Given the description of an element on the screen output the (x, y) to click on. 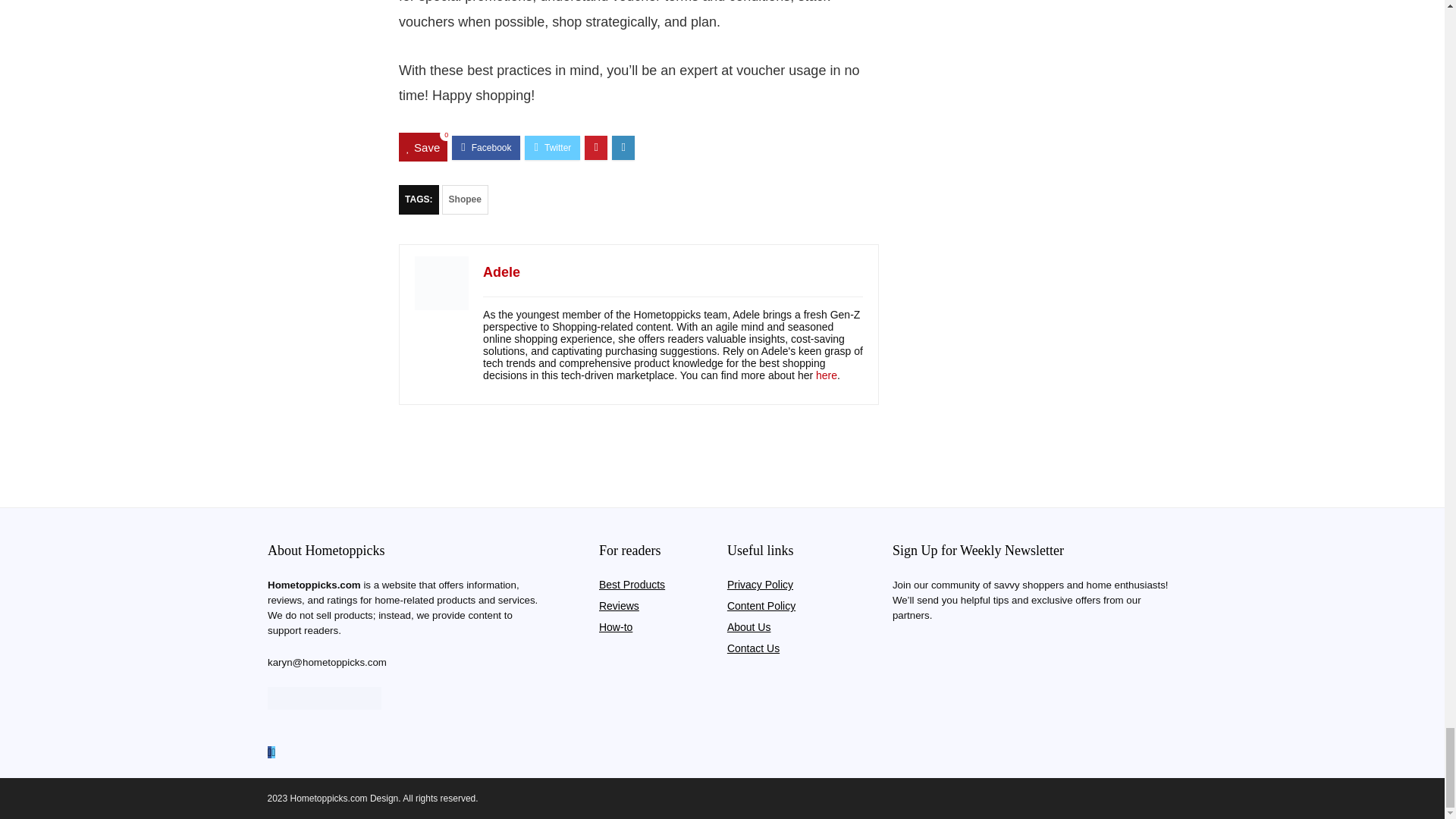
Adele (501, 272)
here (826, 375)
Shopee (464, 199)
